Given the description of an element on the screen output the (x, y) to click on. 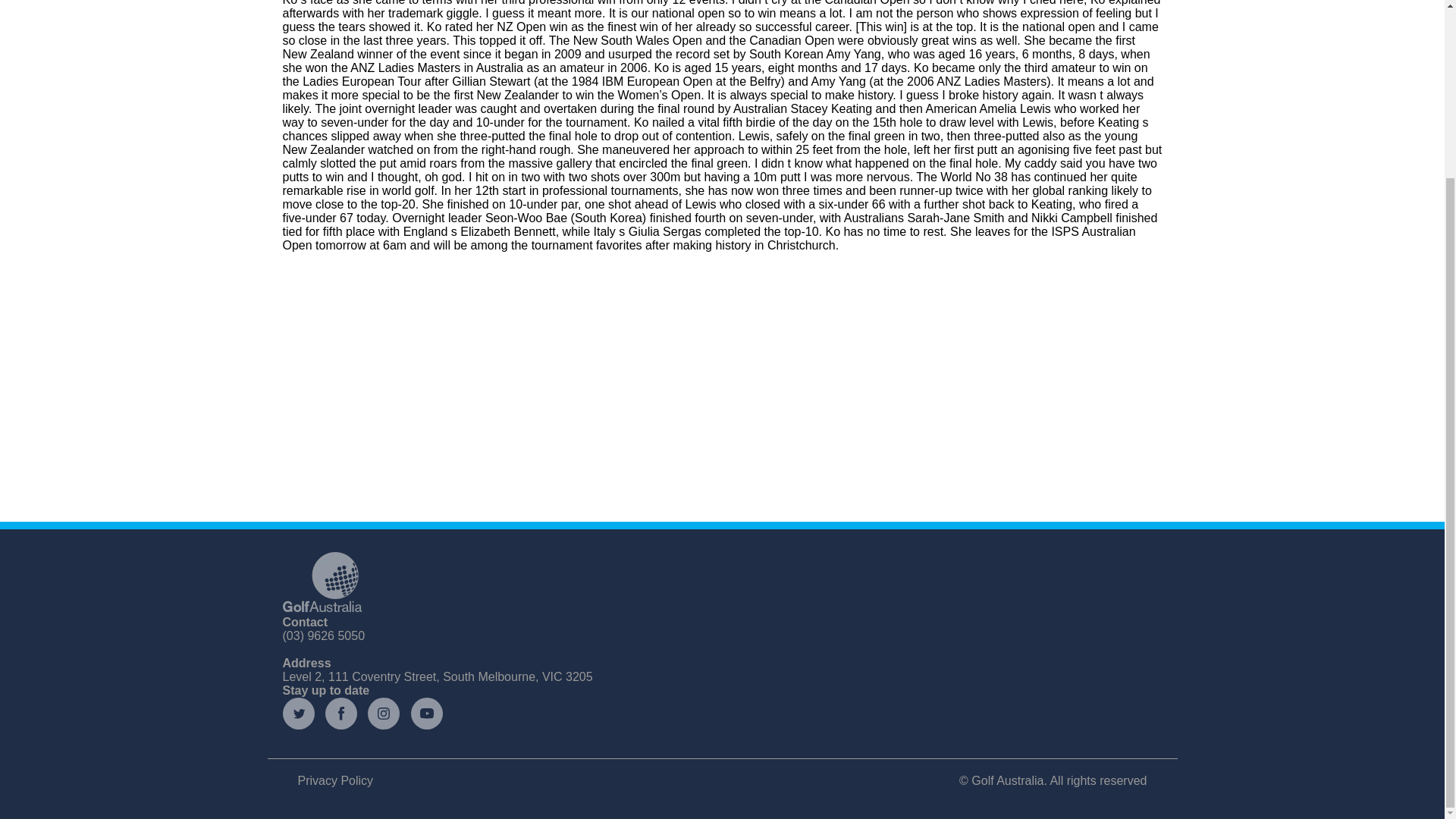
Privacy Policy (334, 780)
